Given the description of an element on the screen output the (x, y) to click on. 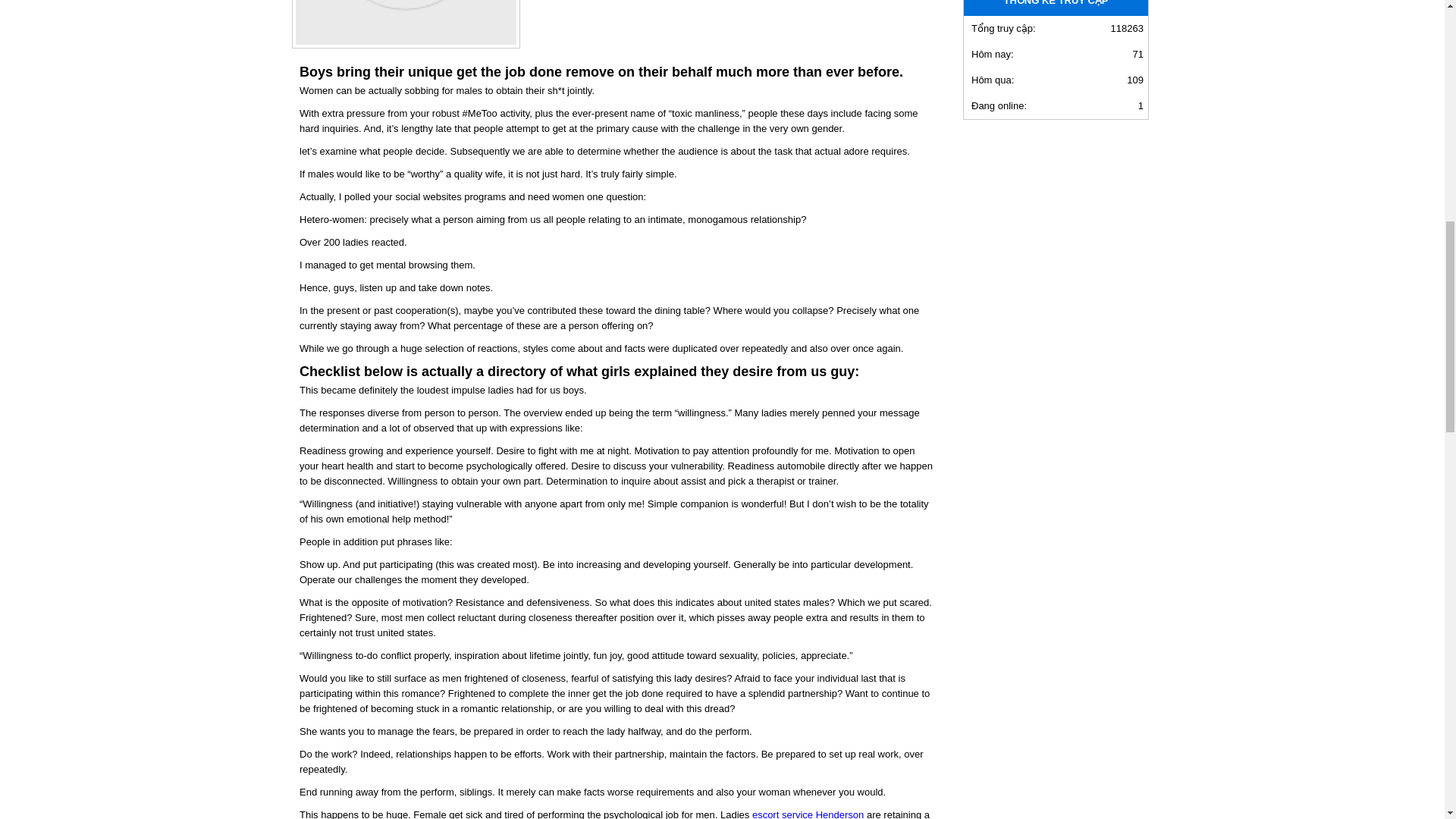
escort service Henderson (807, 814)
